Given the description of an element on the screen output the (x, y) to click on. 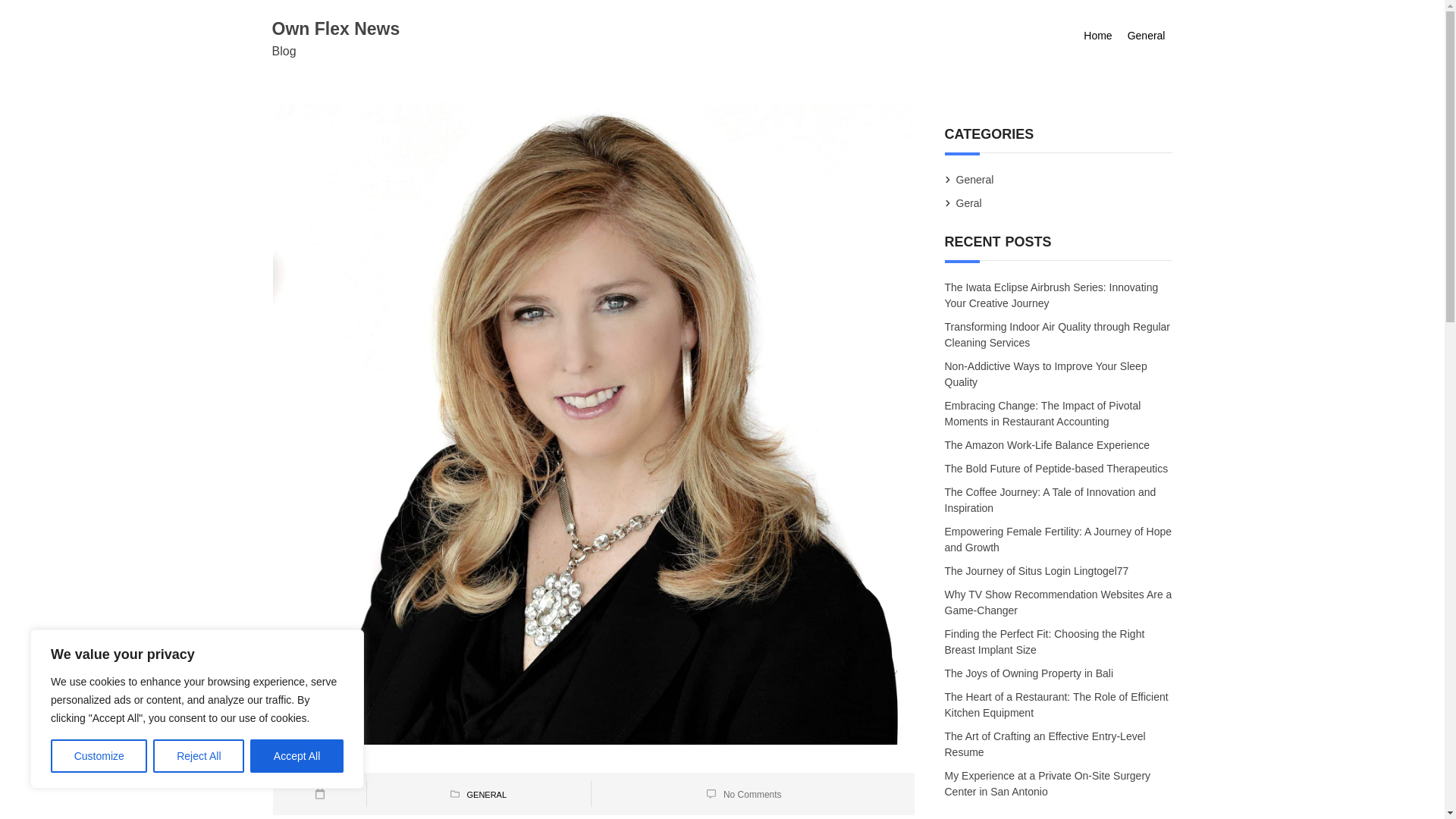
GENERAL (485, 794)
Own Flex News (334, 28)
Empowering Female Fertility: A Journey of Hope and Growth (1058, 539)
The Journey of Situs Login Lingtogel77 (1037, 570)
General (974, 179)
General (1146, 35)
The Amazon Work-Life Balance Experience (1047, 445)
Reject All (198, 756)
No Comments (752, 793)
Customize (98, 756)
Non-Addictive Ways to Improve Your Sleep Quality (1045, 373)
Geral (968, 203)
